Given the description of an element on the screen output the (x, y) to click on. 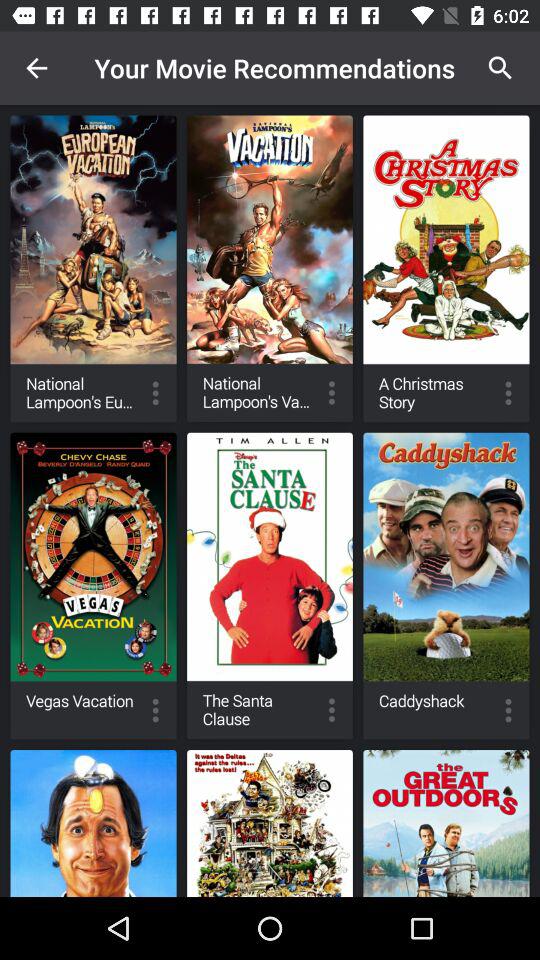
click icon next to the your movie recommendations icon (500, 67)
